Given the description of an element on the screen output the (x, y) to click on. 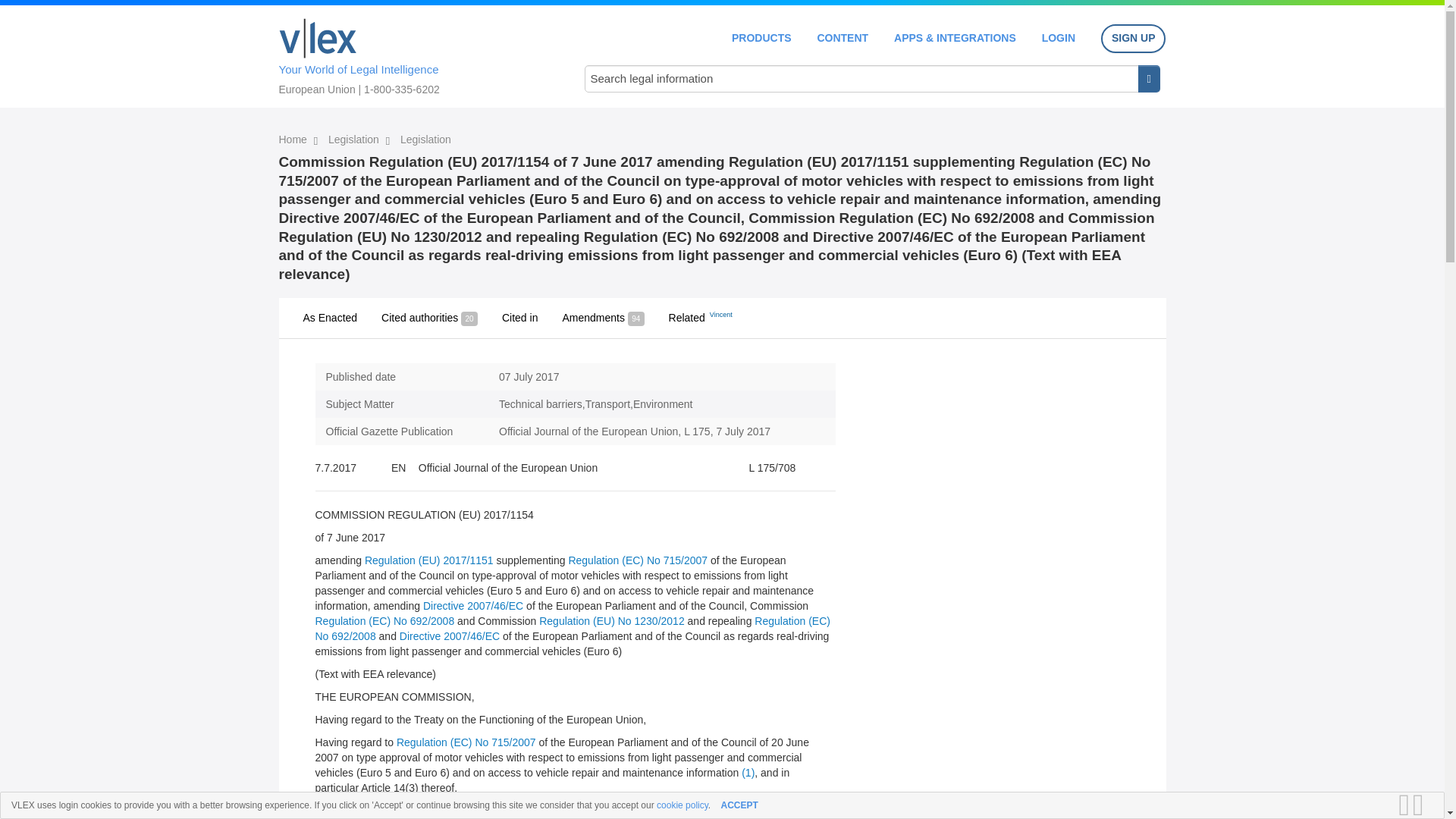
Home (317, 38)
SIGN UP (1133, 38)
CONTENT (841, 37)
LOGIN (1058, 37)
As Enacted (330, 318)
Your World of Legal Intelligence (416, 53)
Legislation (355, 139)
PRODUCTS (762, 37)
Legislation (425, 139)
Home (294, 139)
